Given the description of an element on the screen output the (x, y) to click on. 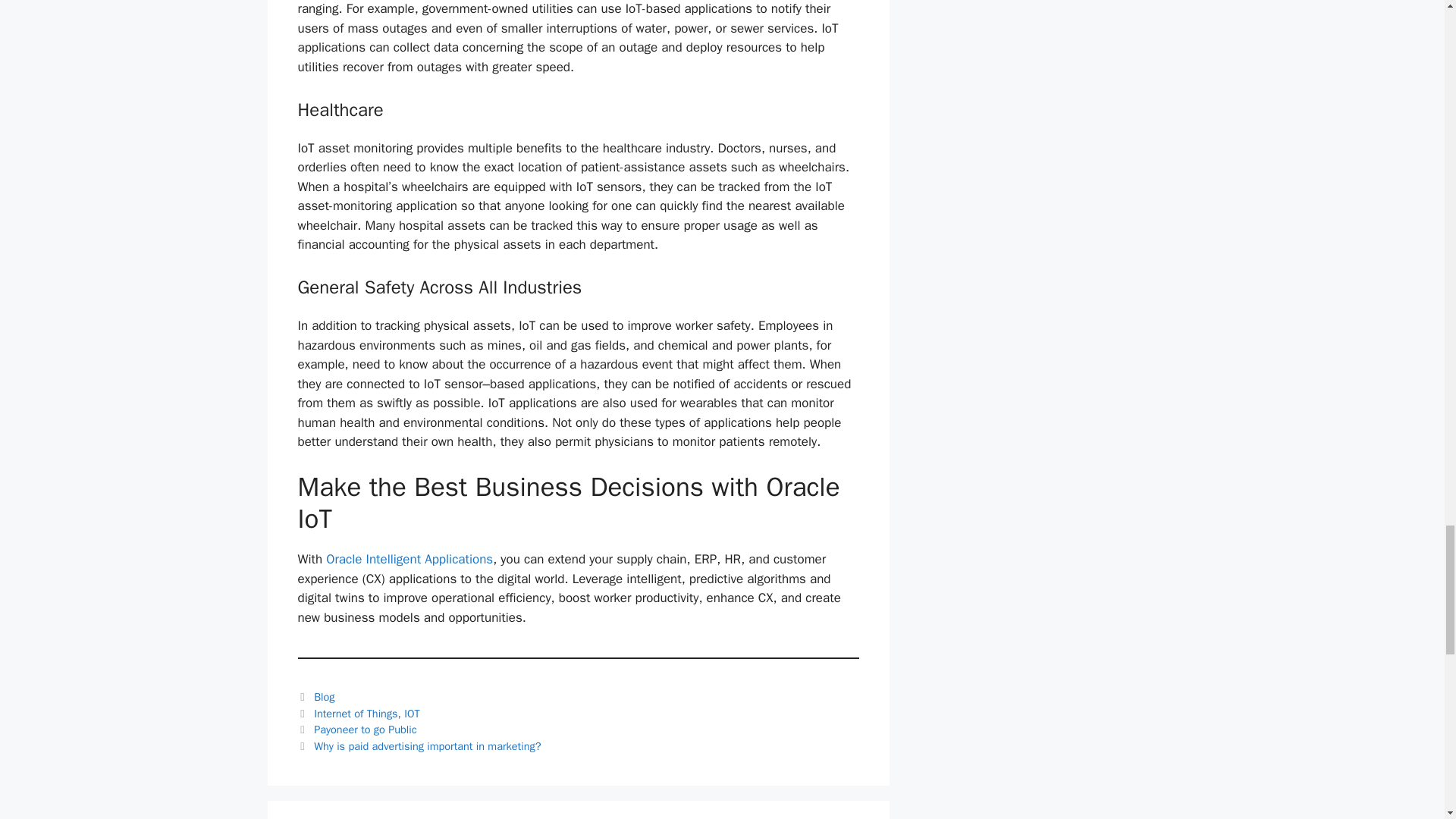
Oracle Intelligent Applications (409, 559)
IOT (412, 713)
Blog (324, 696)
Why is paid advertising important in marketing? (427, 745)
Internet of Things (355, 713)
Payoneer to go Public (365, 729)
